Given the description of an element on the screen output the (x, y) to click on. 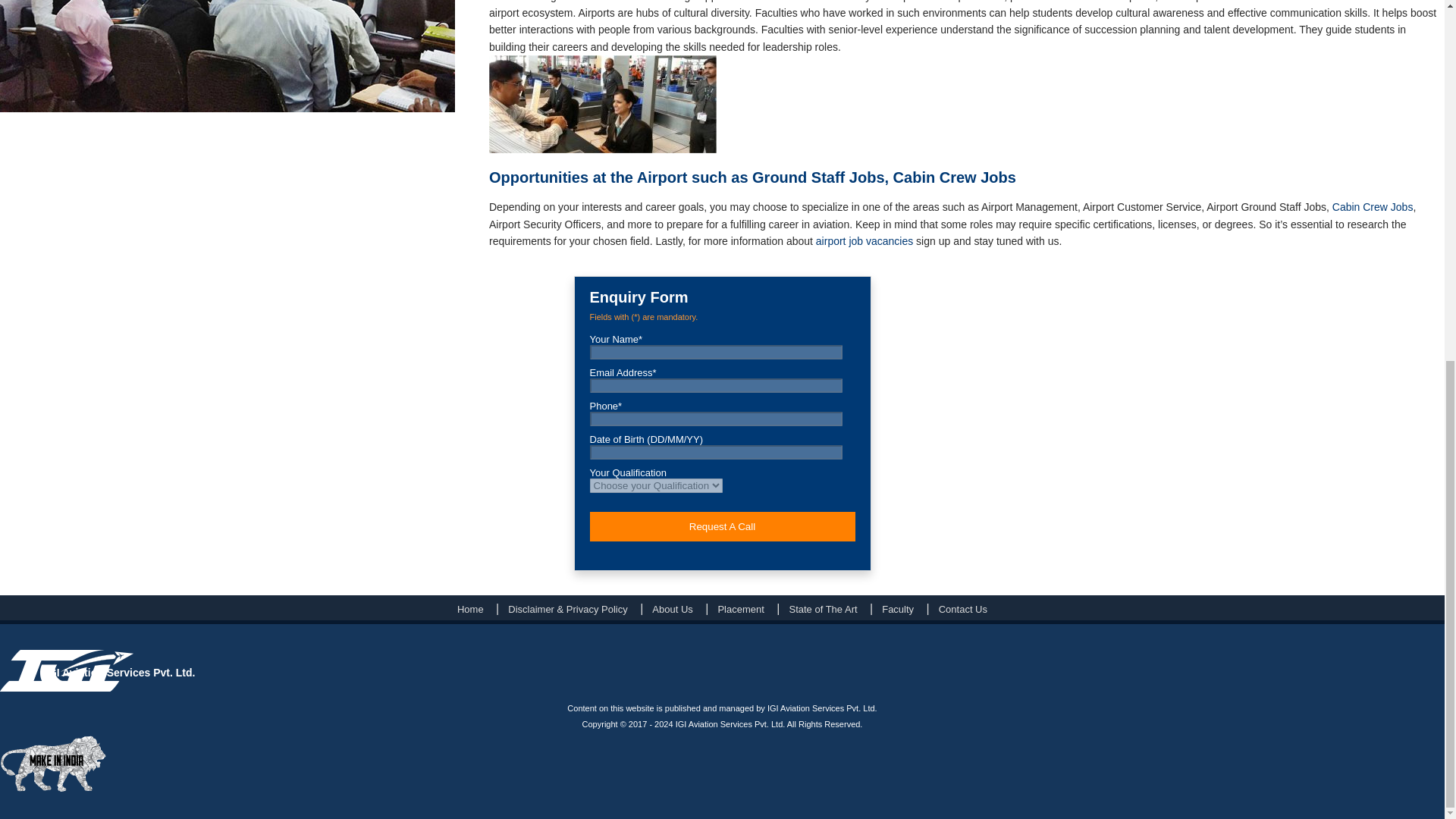
airport job vacancies (863, 241)
About Us (672, 609)
Request A Call (722, 526)
Contact Us (962, 609)
Home (470, 609)
Faculty (897, 609)
Cabin Crew Jobs (1372, 206)
State of The Art (822, 609)
Placement (740, 609)
Request A Call (722, 526)
